Given the description of an element on the screen output the (x, y) to click on. 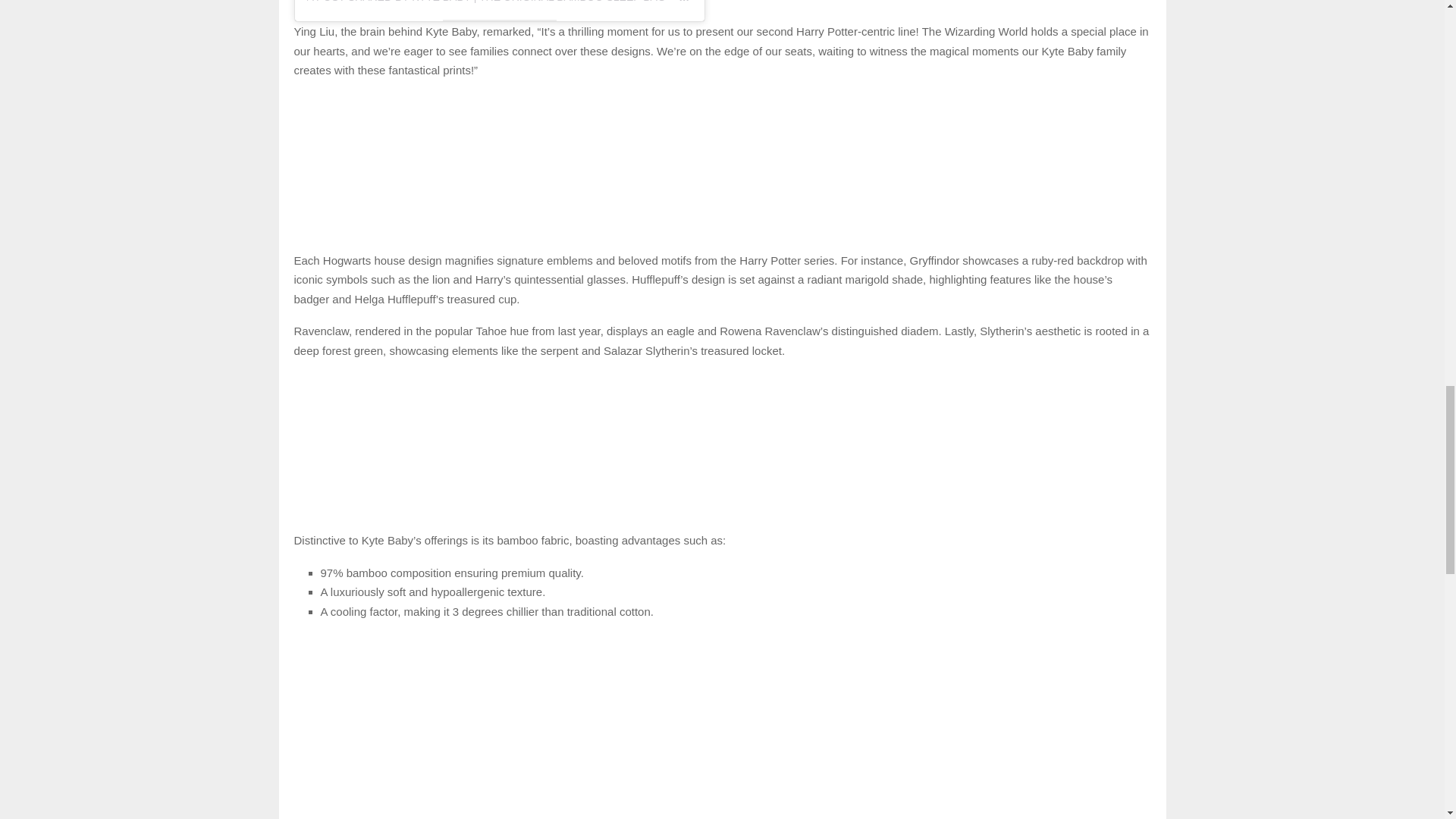
Advertisement (722, 711)
Advertisement (722, 168)
Advertisement (722, 811)
Advertisement (722, 448)
